Given the description of an element on the screen output the (x, y) to click on. 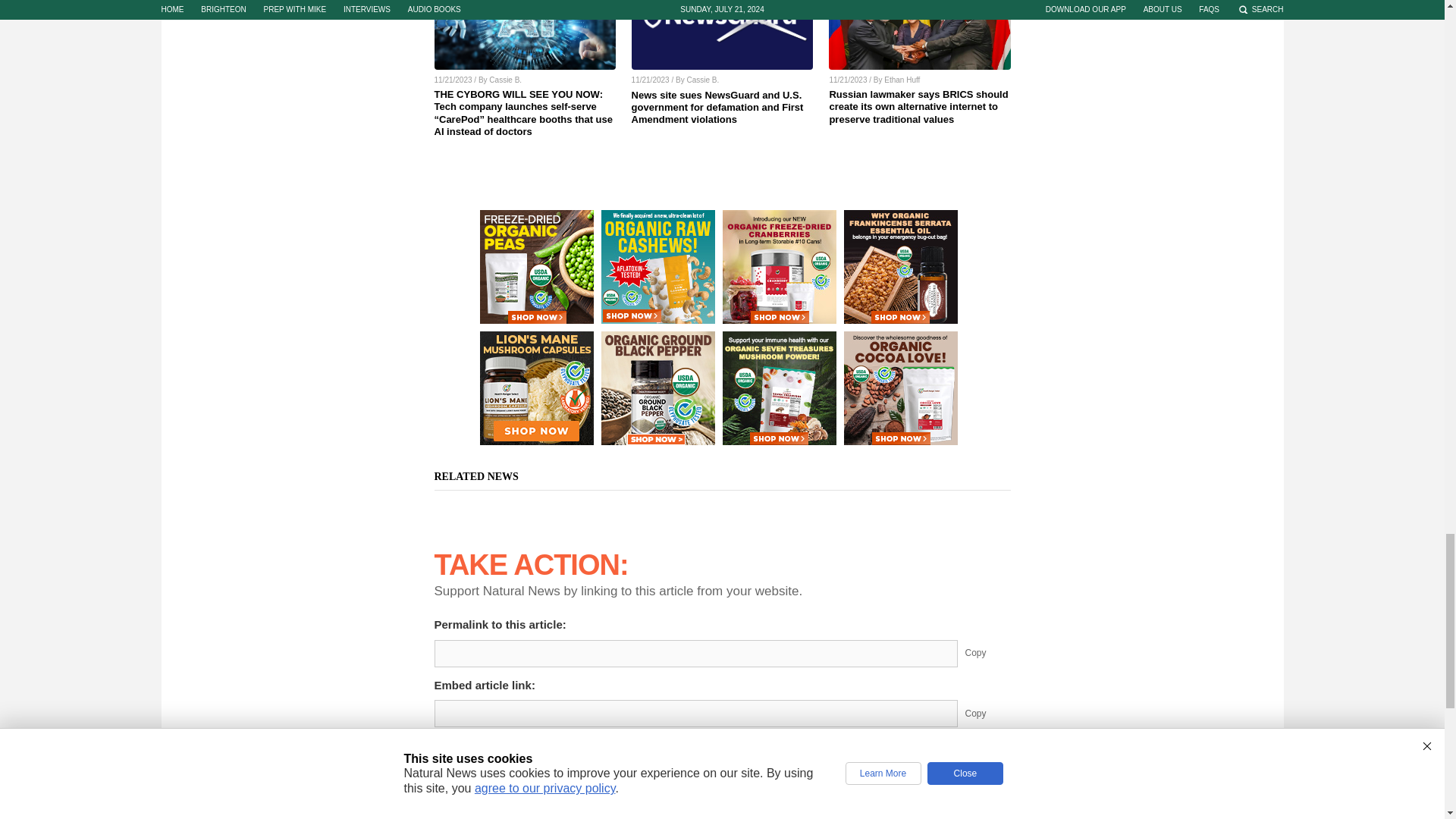
Copy Permalink (986, 653)
Copy Embed Link (986, 713)
